Given the description of an element on the screen output the (x, y) to click on. 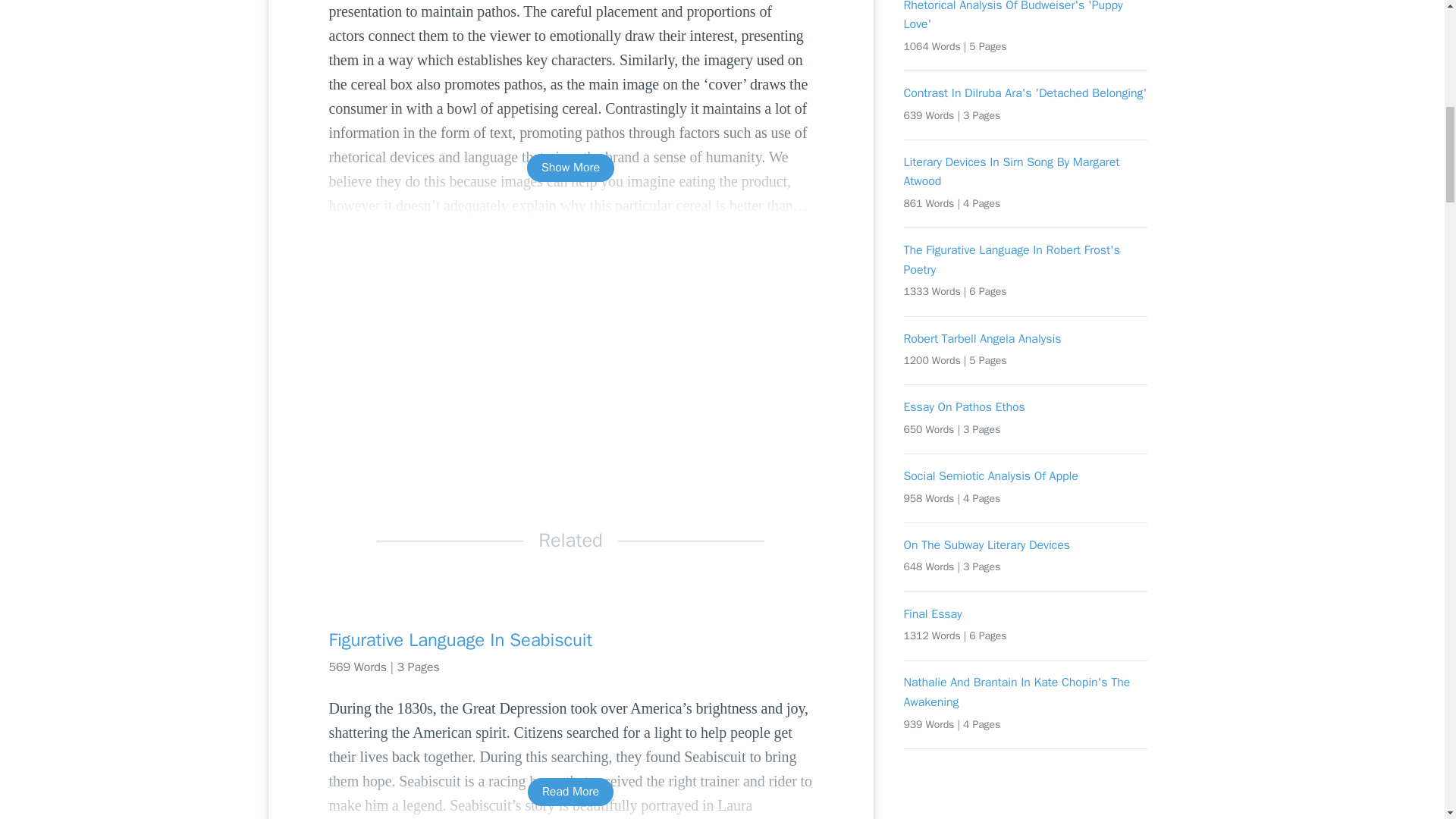
Read More (569, 791)
Show More (570, 167)
Figurative Language In Seabiscuit (570, 639)
